Given the description of an element on the screen output the (x, y) to click on. 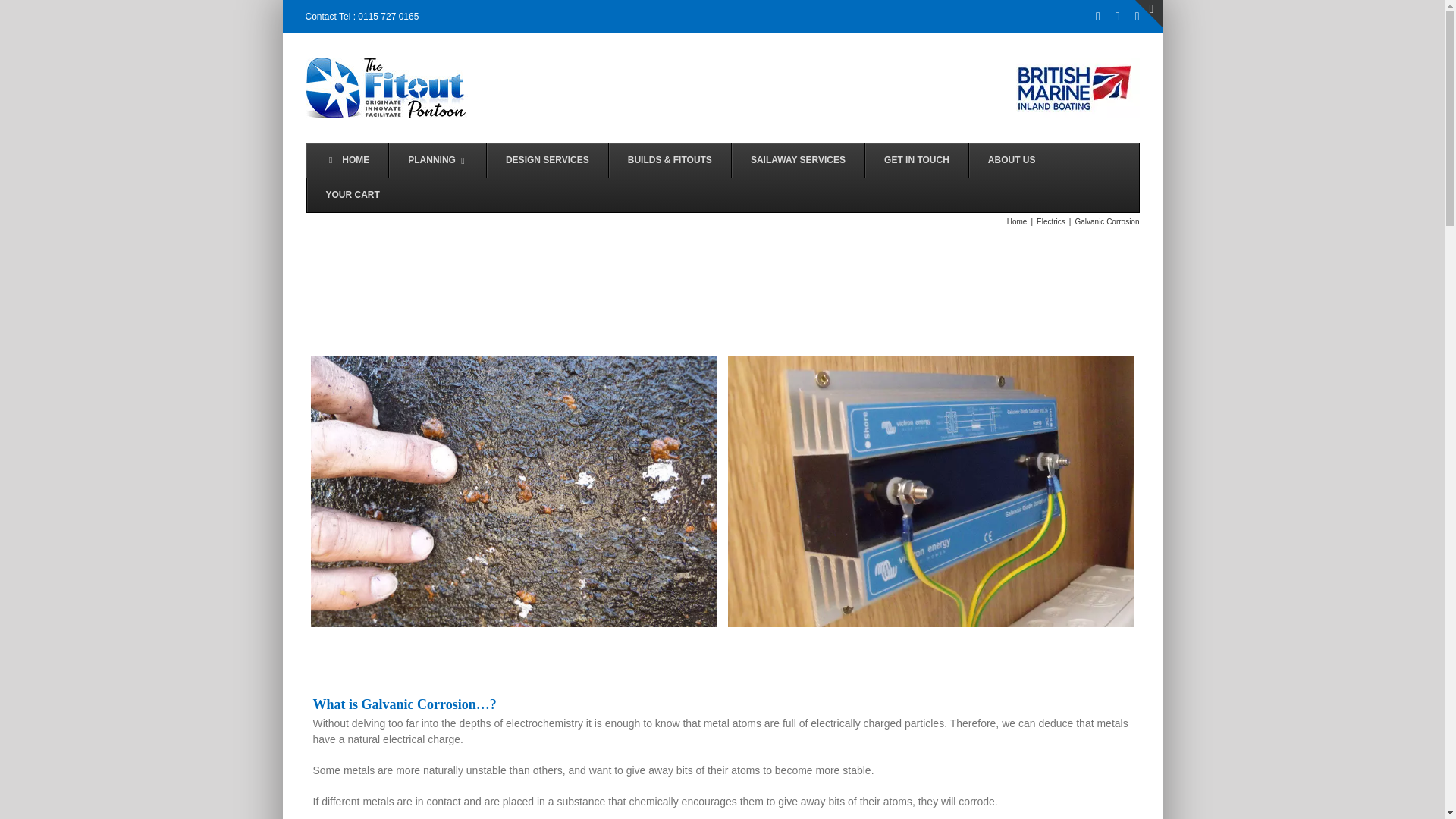
narrowboat-electrics-galvanic-04 (931, 491)
HOME (346, 160)
PLANNING (437, 160)
narrowboat-hull-repairs-14 (513, 491)
